Given the description of an element on the screen output the (x, y) to click on. 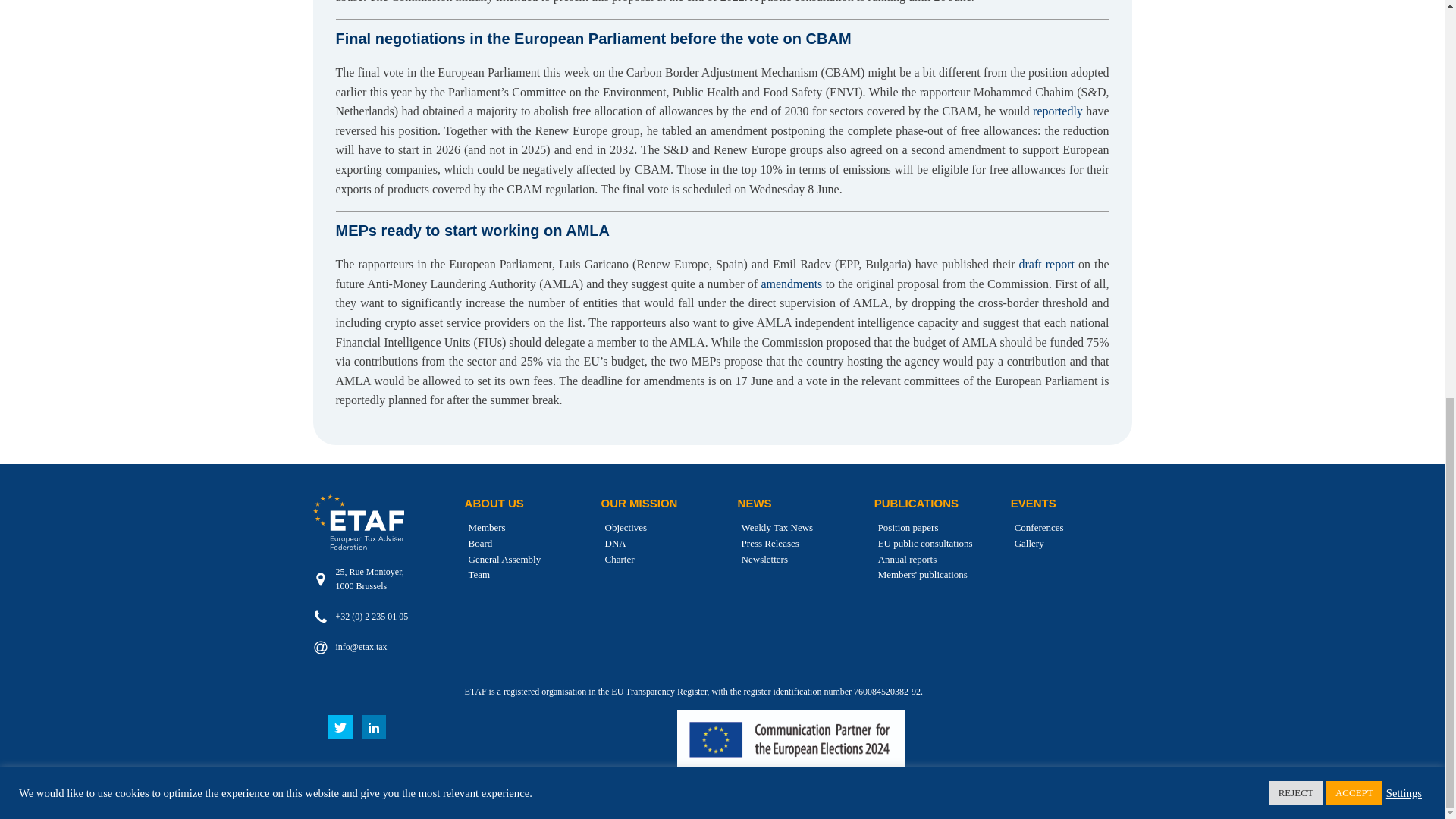
draft report (1047, 264)
reportedly (1056, 110)
amendments (791, 283)
Board (478, 544)
Members (484, 528)
